Given the description of an element on the screen output the (x, y) to click on. 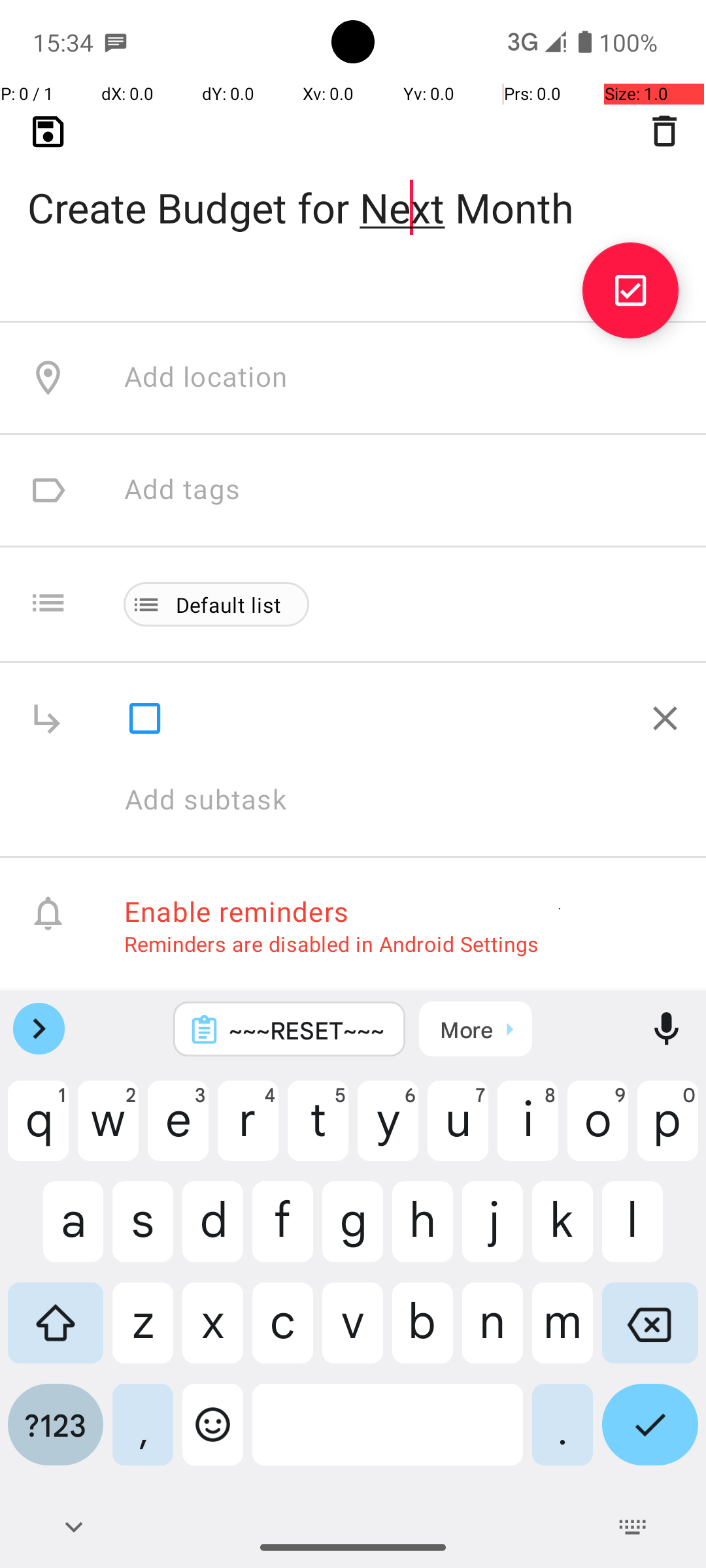
Create Budget for Next Month Element type: android.widget.EditText (353, 186)
